Given the description of an element on the screen output the (x, y) to click on. 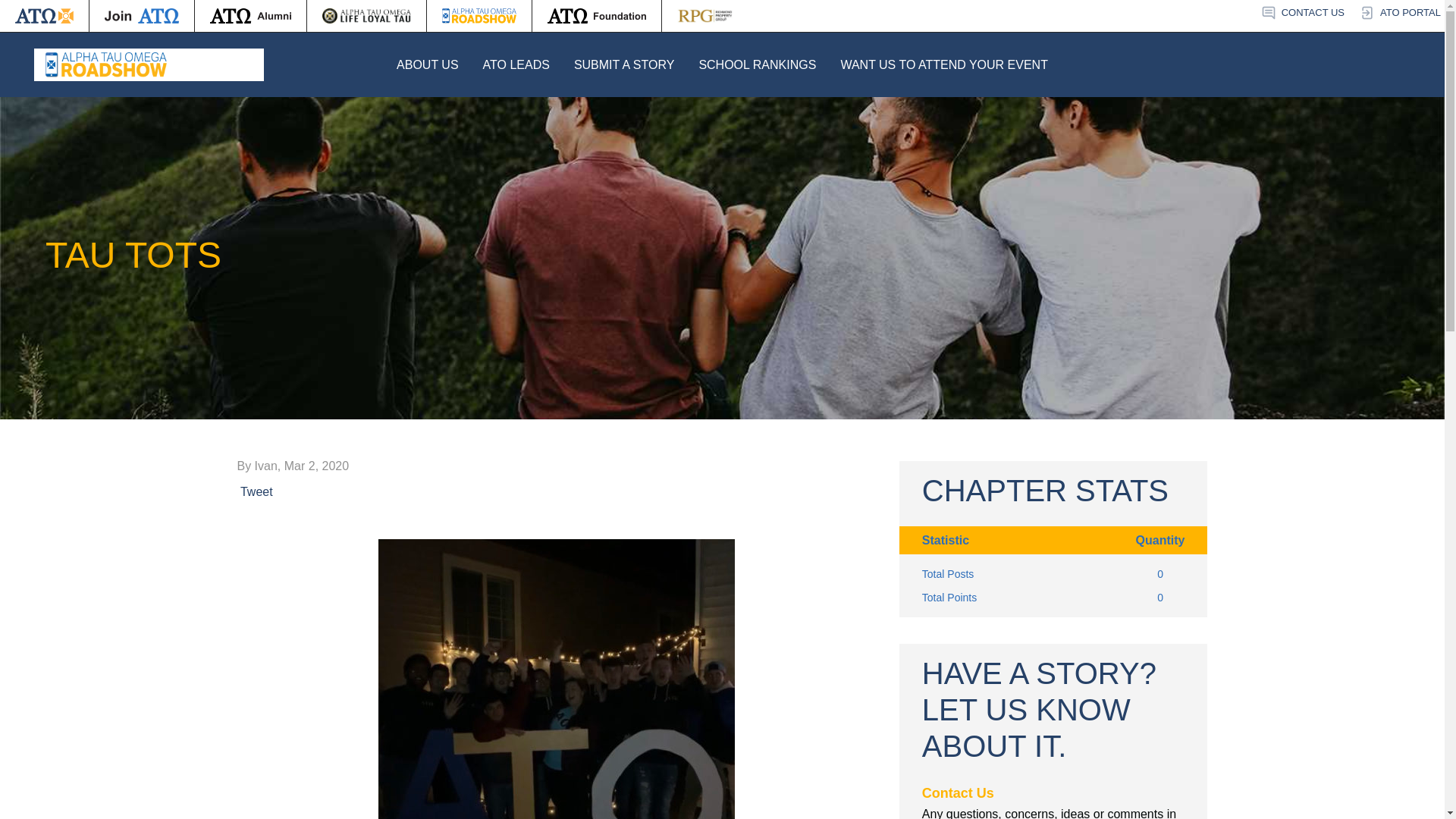
ATO PORTAL (1400, 13)
Foundation (596, 15)
ATO Home (44, 15)
ATO Leads (516, 64)
Alumni (250, 15)
SUBMIT A STORY (624, 64)
Tweet (256, 491)
ATO LEADS (516, 64)
Join ATO (140, 15)
SCHOOL RANKINGS (756, 64)
